Given the description of an element on the screen output the (x, y) to click on. 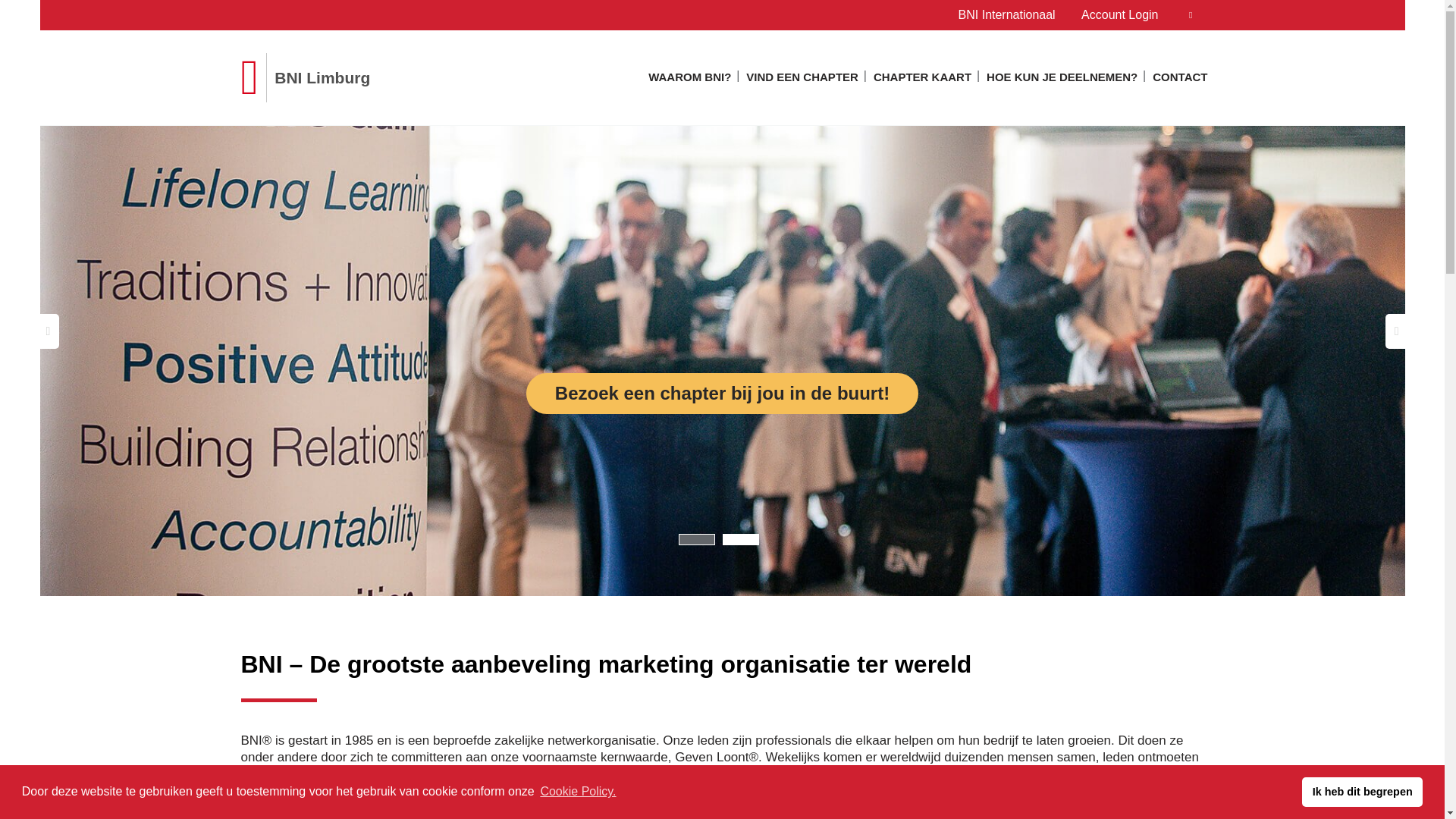
HOE KUN JE DEELNEMEN? Element type: text (1061, 80)
Cookie Policy. Element type: text (577, 791)
Bezoek een chapter bij jou in de buurt! Element type: text (722, 393)
Ik heb dit begrepen Element type: text (1362, 791)
Account Login Element type: text (1136, 15)
BNI Limburg Element type: text (305, 77)
BNI Internationaal Element type: text (1006, 15)
CONTACT Element type: text (1179, 80)
WAAROM BNI? Element type: text (689, 80)
CHAPTER KAART Element type: text (922, 80)
VIND EEN CHAPTER Element type: text (802, 80)
